Given the description of an element on the screen output the (x, y) to click on. 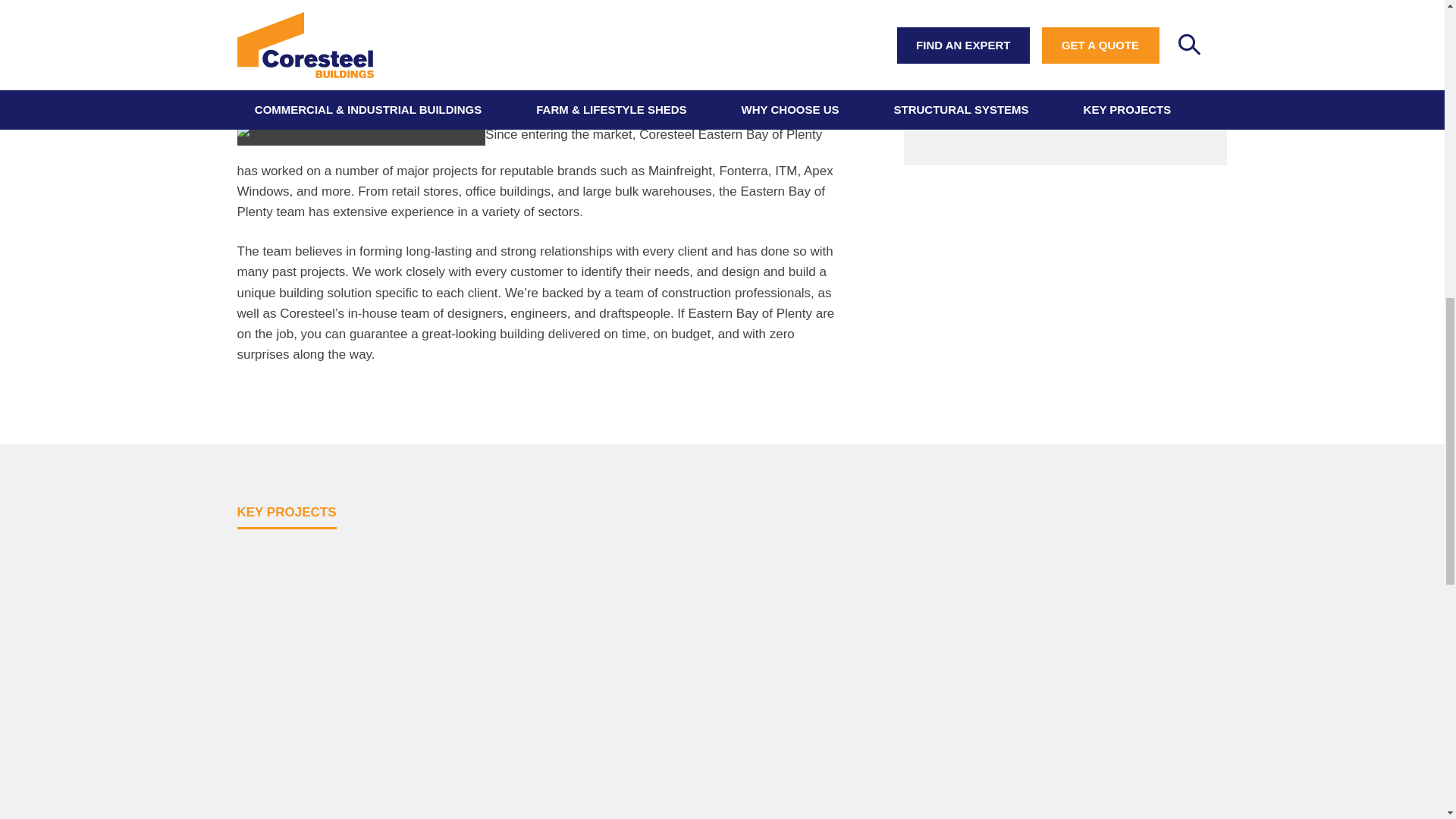
Mobile (941, 8)
View on Google Maps. Opens in a new tab.  (1055, 93)
